Given the description of an element on the screen output the (x, y) to click on. 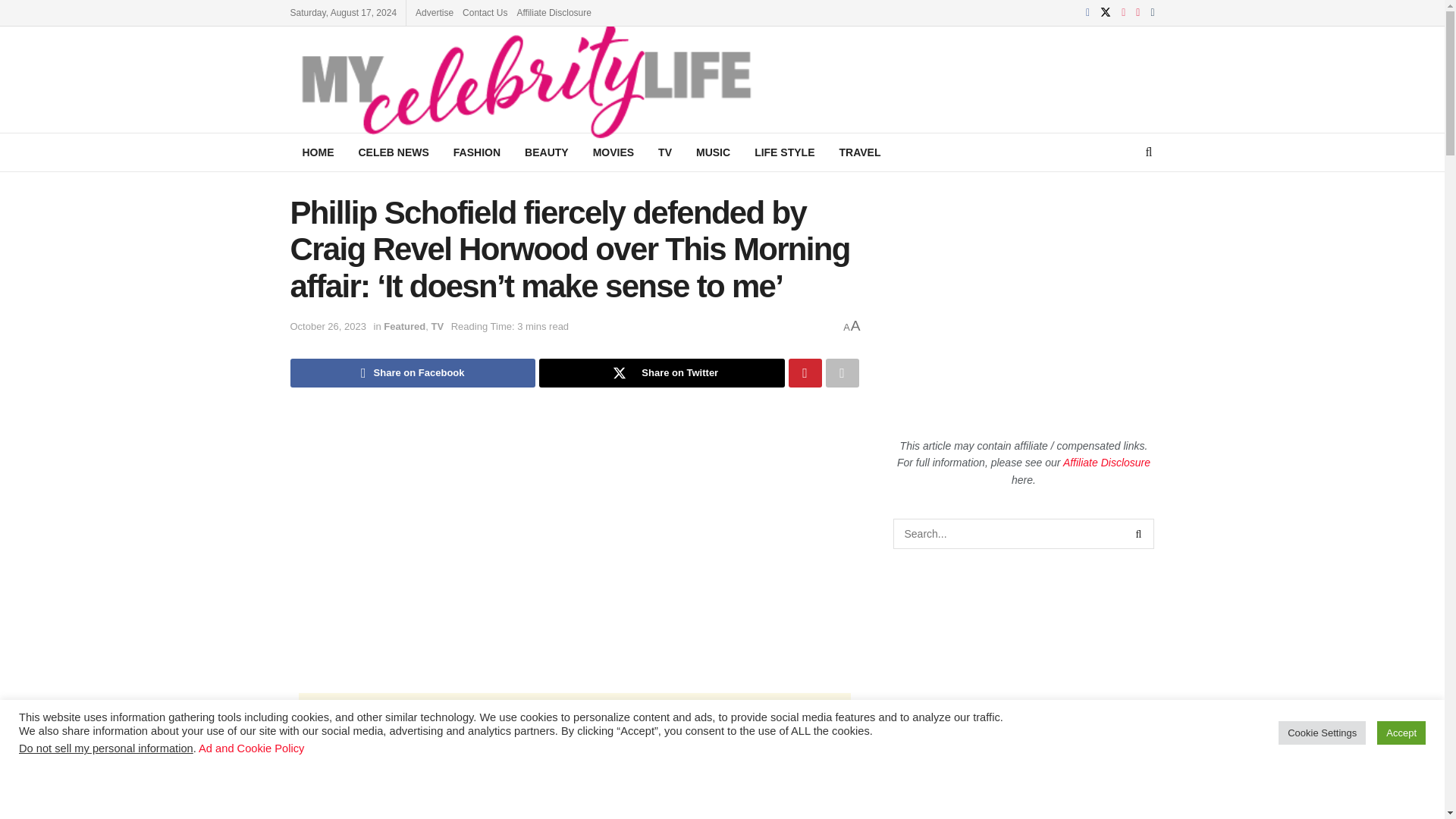
CELEB NEWS (393, 152)
Advertisement (574, 726)
Featured (404, 326)
Advertise (433, 12)
MUSIC (713, 152)
Advertisement (1056, 77)
TV (665, 152)
TV (437, 326)
BEAUTY (546, 152)
TRAVEL (859, 152)
